Given the description of an element on the screen output the (x, y) to click on. 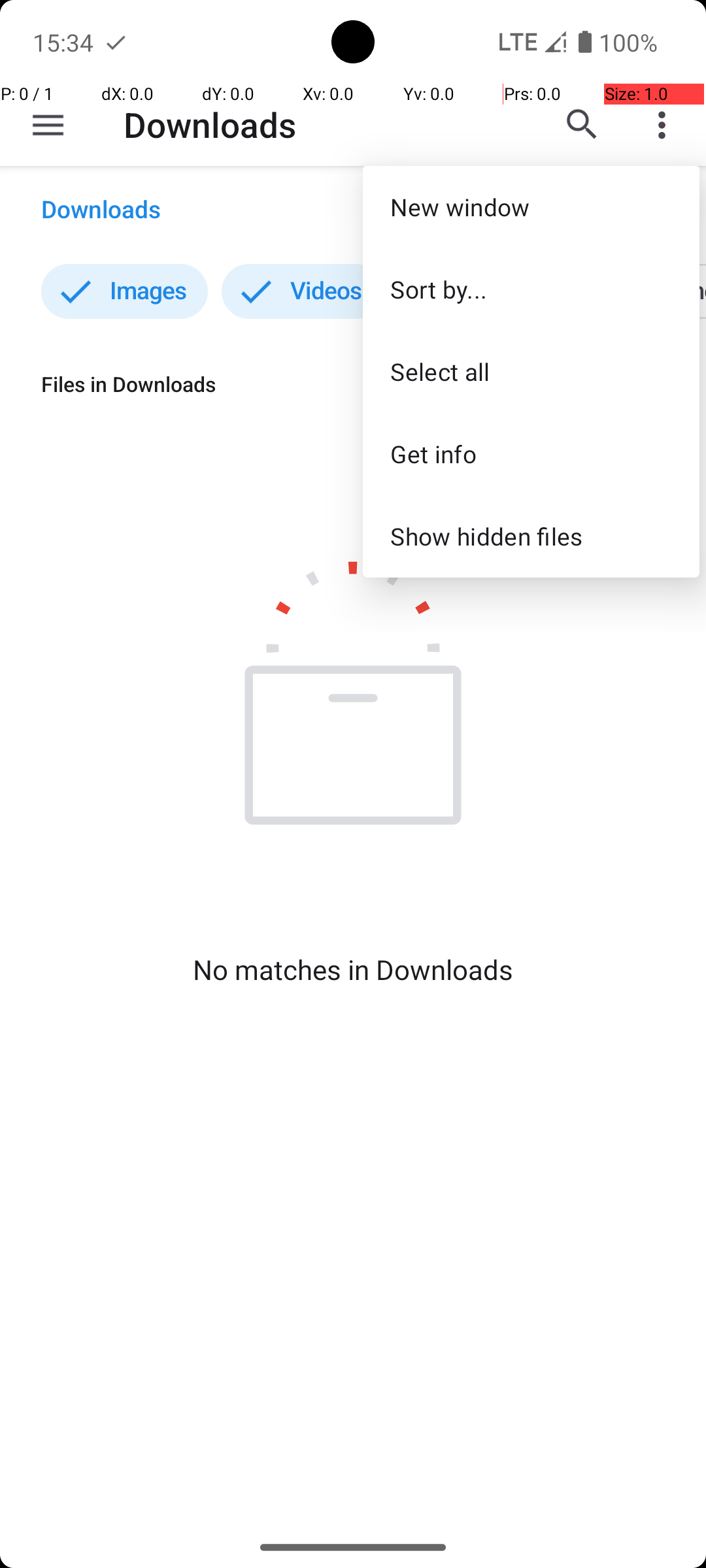
New window Element type: android.widget.TextView (531, 206)
Sort by... Element type: android.widget.TextView (531, 288)
Select all Element type: android.widget.TextView (531, 371)
Get info Element type: android.widget.TextView (531, 453)
Show hidden files Element type: android.widget.TextView (531, 535)
